Given the description of an element on the screen output the (x, y) to click on. 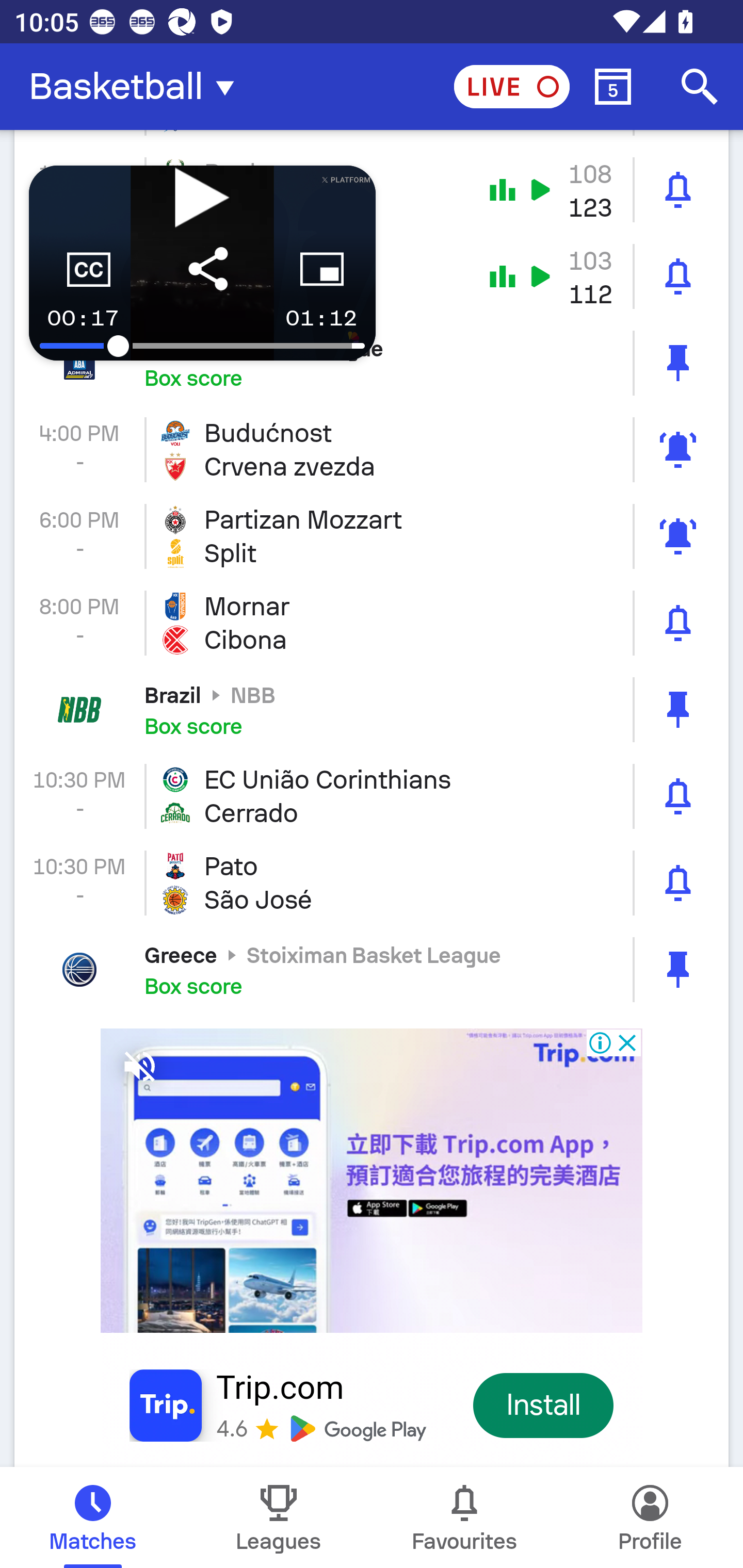
Basketball (137, 86)
Calendar (612, 86)
Search (699, 86)
4:00 PM - Budućnost Crvena zvezda (371, 449)
6:00 PM - Partizan Mozzart Split (371, 536)
8:00 PM - Mornar Cibona (371, 623)
Brazil NBB Box score (371, 709)
10:30 PM - EC União Corinthians Cerrado (371, 796)
10:30 PM - Pato São José (371, 883)
Greece Stoiximan Basket League Box score (371, 969)
Trip.com 4.6 Install Install (371, 1239)
Install (543, 1405)
Leagues (278, 1517)
Favourites (464, 1517)
Profile (650, 1517)
